Given the description of an element on the screen output the (x, y) to click on. 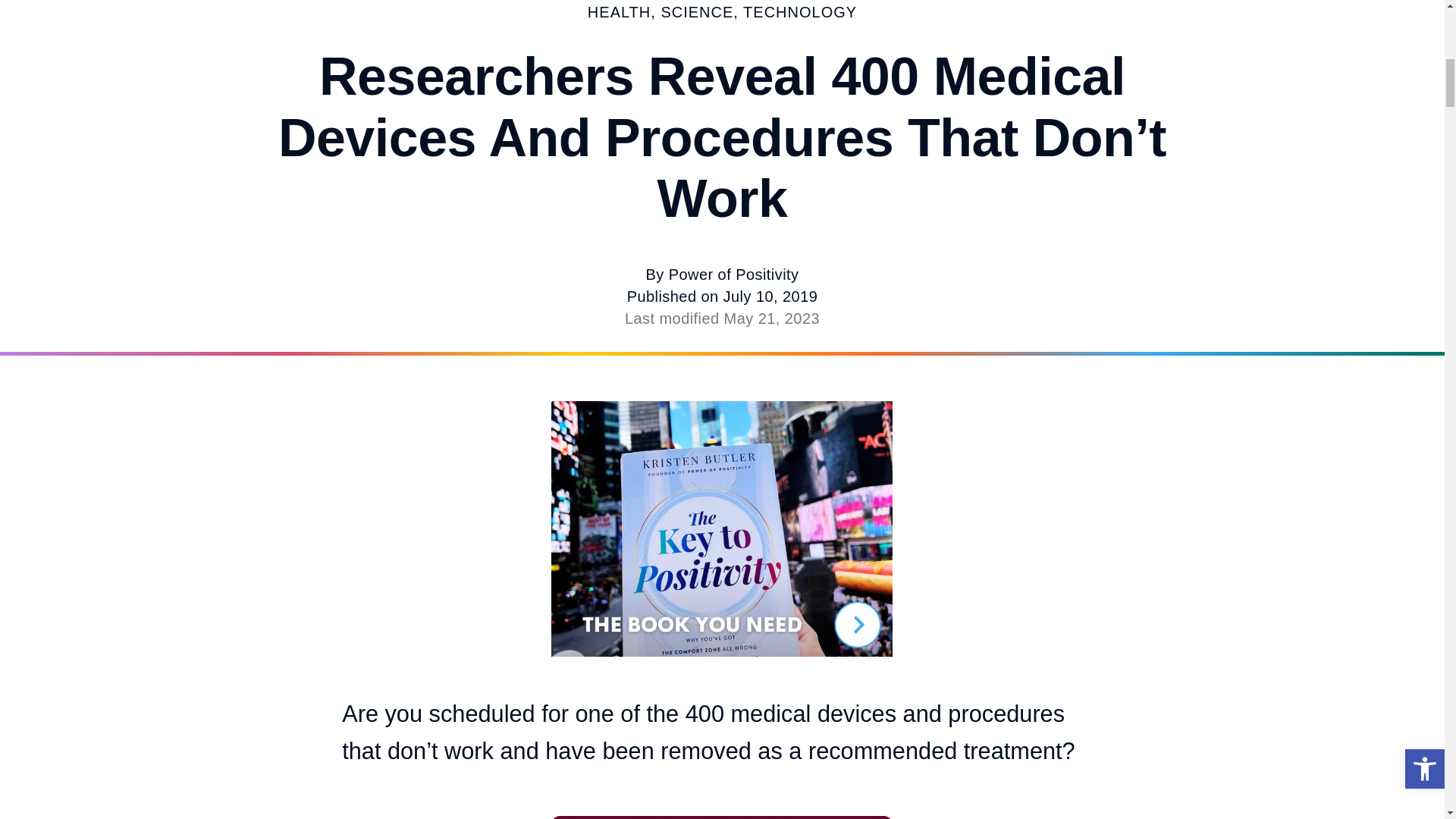
share (858, 817)
